Given the description of an element on the screen output the (x, y) to click on. 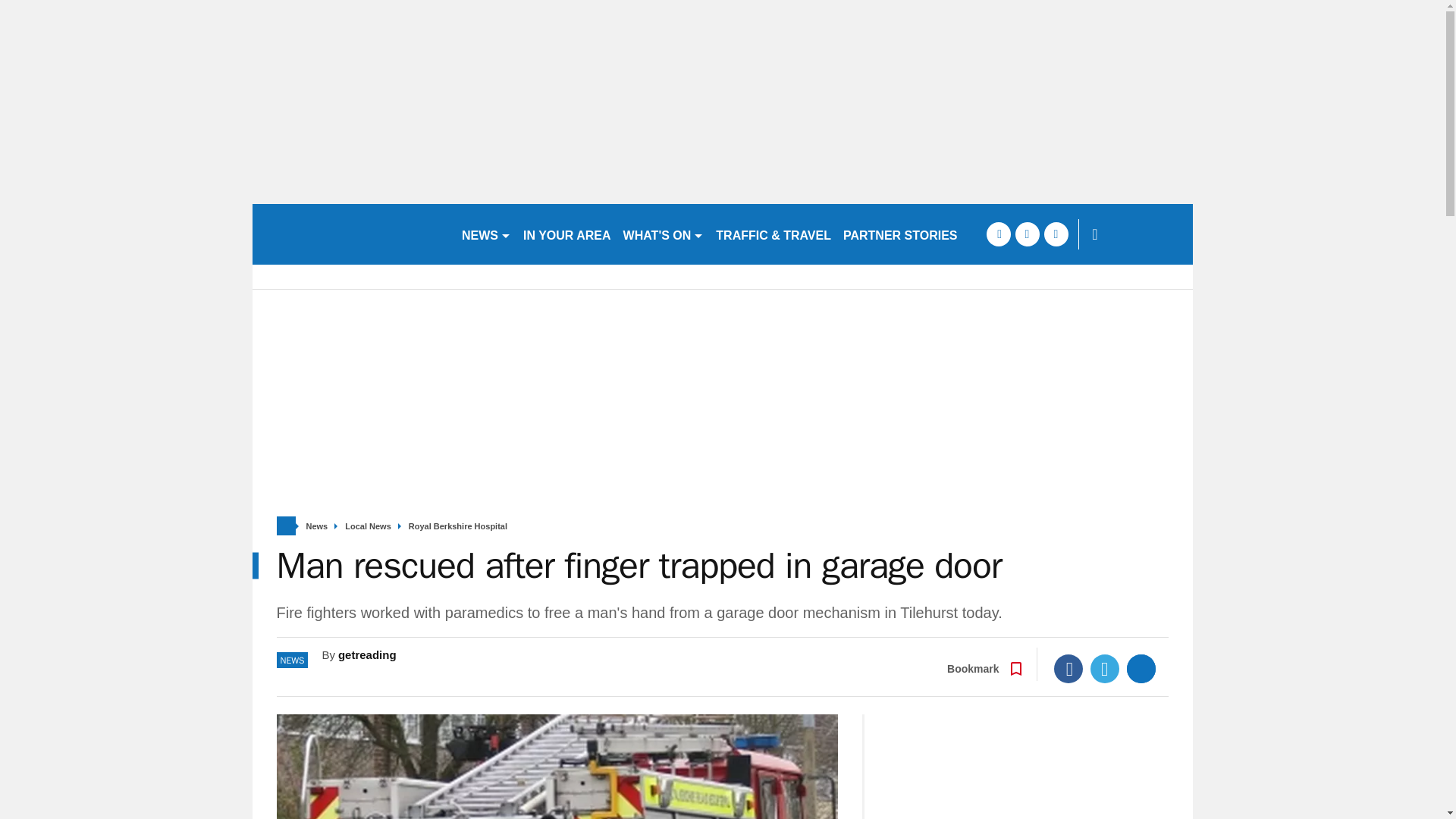
NEWS (485, 233)
WHAT'S ON (663, 233)
getreading (349, 233)
PARTNER STORIES (900, 233)
Twitter (1104, 668)
IN YOUR AREA (566, 233)
twitter (1026, 233)
instagram (1055, 233)
Facebook (1068, 668)
facebook (997, 233)
